Given the description of an element on the screen output the (x, y) to click on. 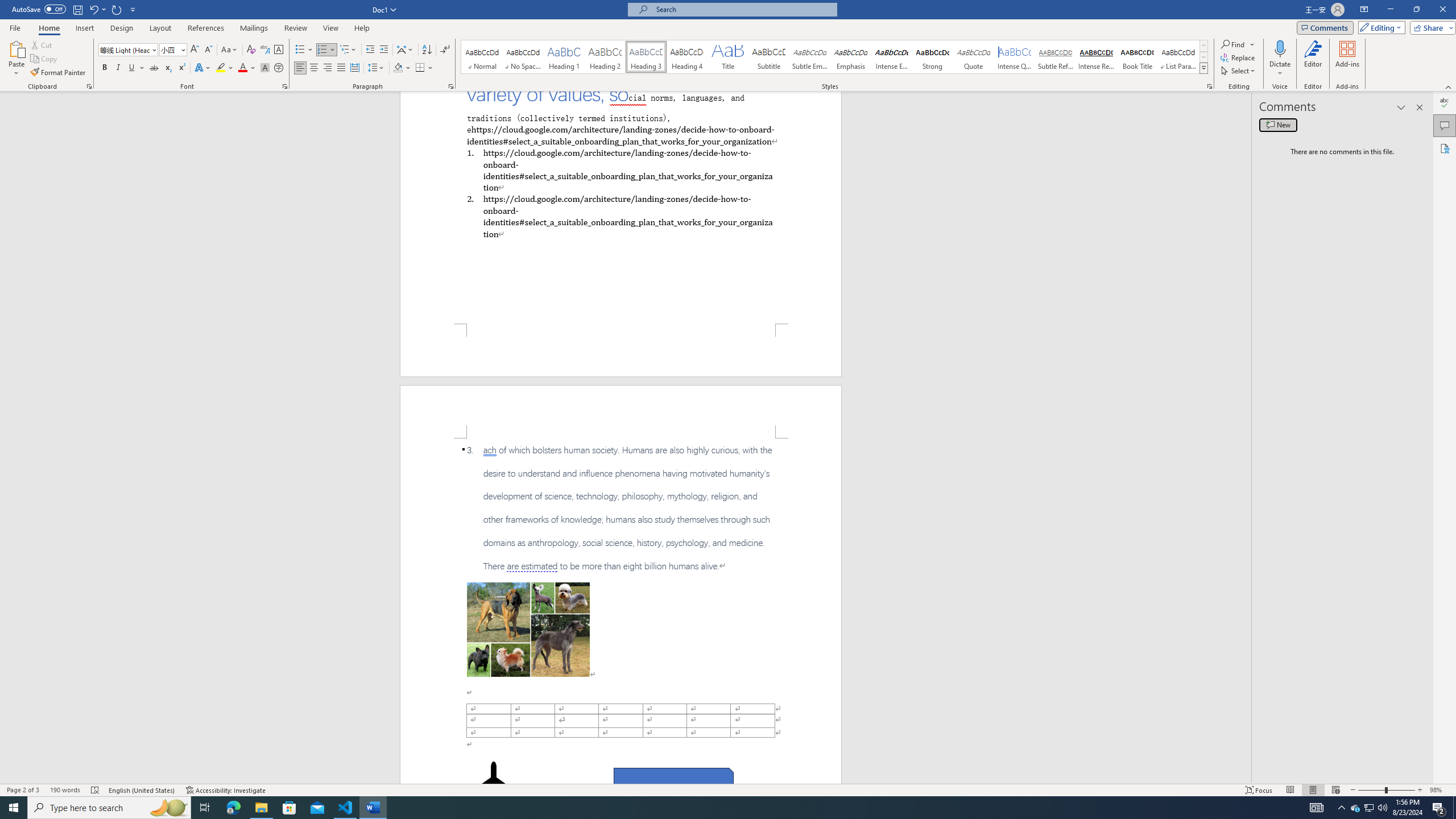
Class: NetUIScrollBar (1245, 437)
Accessibility (1444, 147)
Copy (45, 58)
Editor (1312, 58)
Align Right (327, 67)
Page Number Page 2 of 3 (22, 790)
Align Left (300, 67)
Select (1238, 69)
Zoom (1386, 790)
Office Clipboard... (88, 85)
Class: MsoCommandBar (728, 789)
Shading RGB(0, 0, 0) (397, 67)
Heading 4 (686, 56)
